Given the description of an element on the screen output the (x, y) to click on. 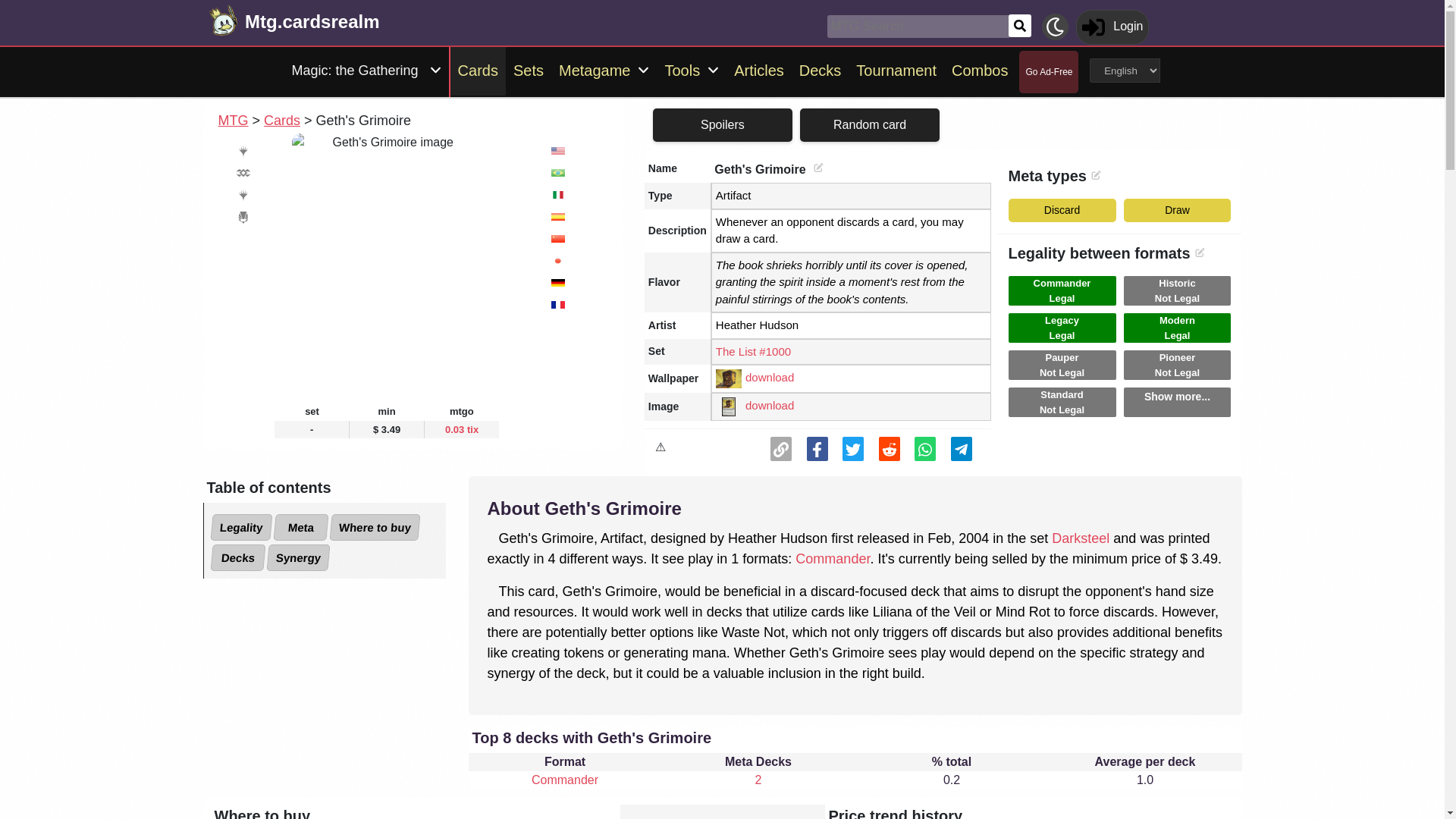
Combos (978, 70)
Cards Realm (311, 20)
Tournament (895, 70)
Cards (477, 70)
Decks (820, 70)
Cards (281, 120)
Metagame (592, 71)
Sets (528, 70)
Magic: the Gathering Landing Page (354, 71)
Cards Realm (223, 21)
MTG (233, 120)
Login (1111, 25)
Tools (679, 71)
Articles (759, 70)
Mtg.cardsrealm (311, 20)
